Given the description of an element on the screen output the (x, y) to click on. 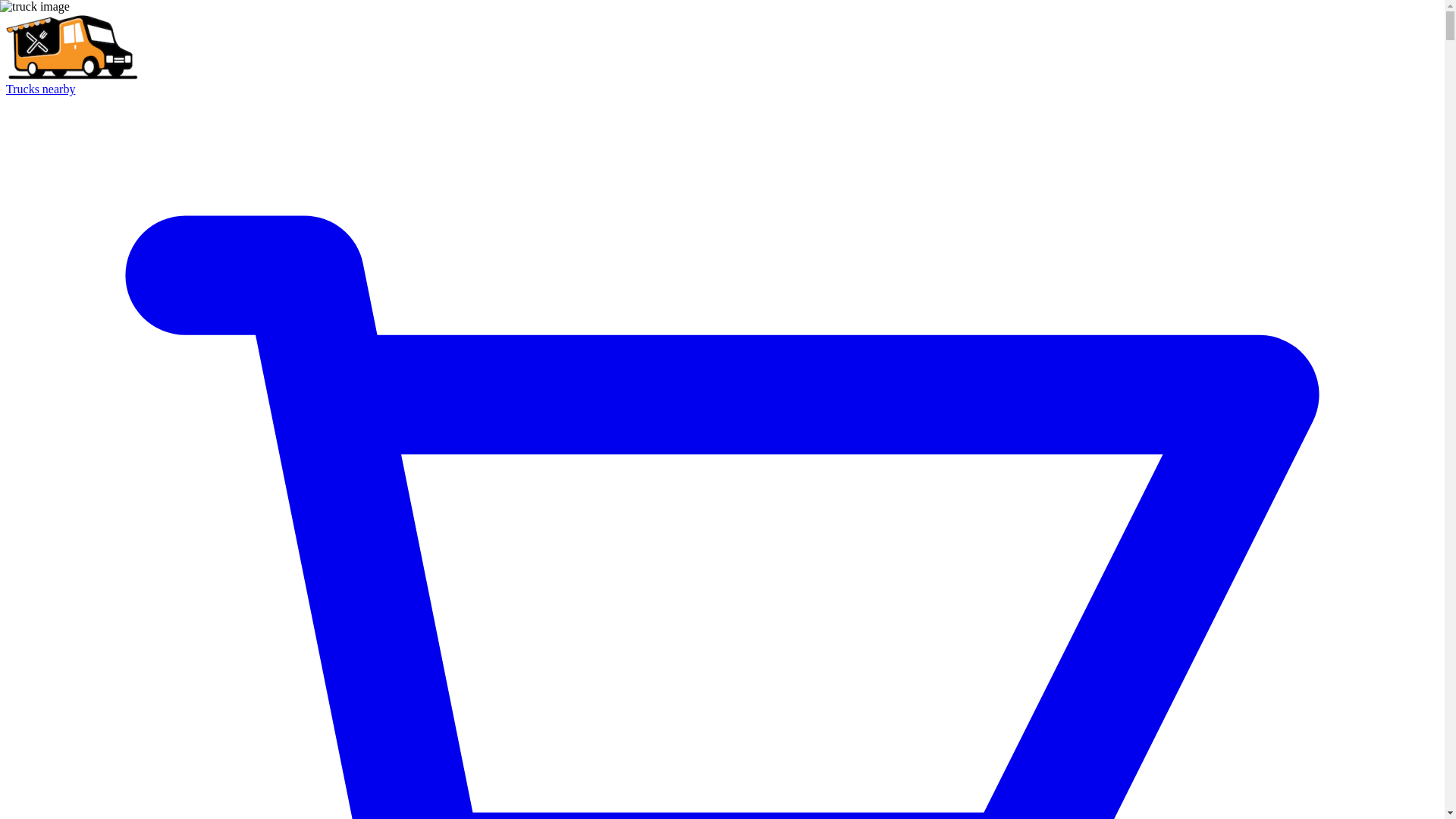
Trucks nearby (40, 88)
